Given the description of an element on the screen output the (x, y) to click on. 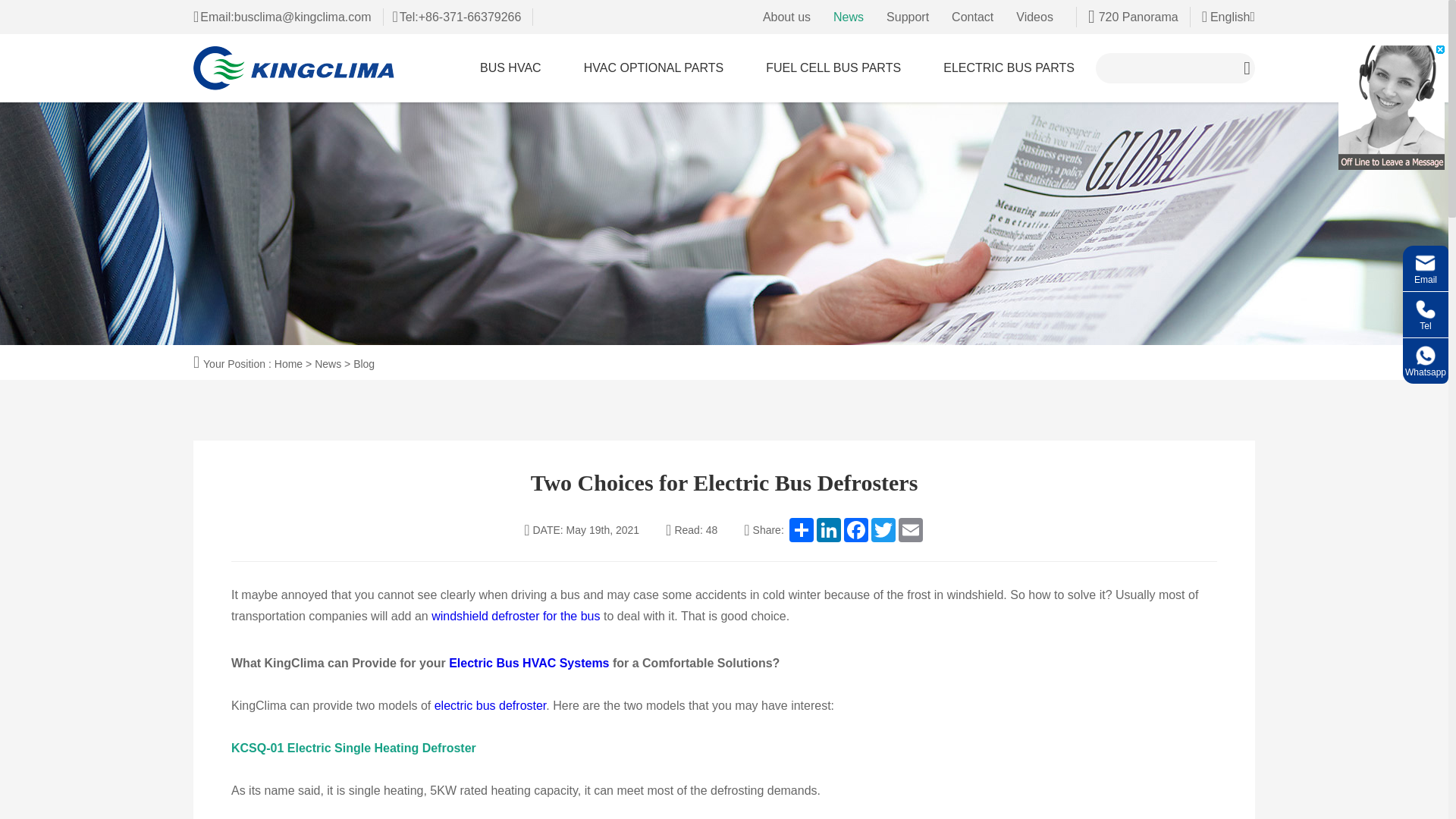
ELECTRIC BUS PARTS (1008, 68)
Electric Bus Parts (1008, 68)
FUEL CELL BUS PARTS (833, 68)
BUS HVAC (510, 68)
Contact (972, 17)
About us (786, 17)
Fuel Cell Bus Parts (833, 68)
Support (907, 17)
Videos (1034, 17)
Hvac OPTIONAL parts (653, 68)
Bus HVAC (510, 68)
HVAC OPTIONAL PARTS (653, 68)
720 Panorama (1132, 16)
